Given the description of an element on the screen output the (x, y) to click on. 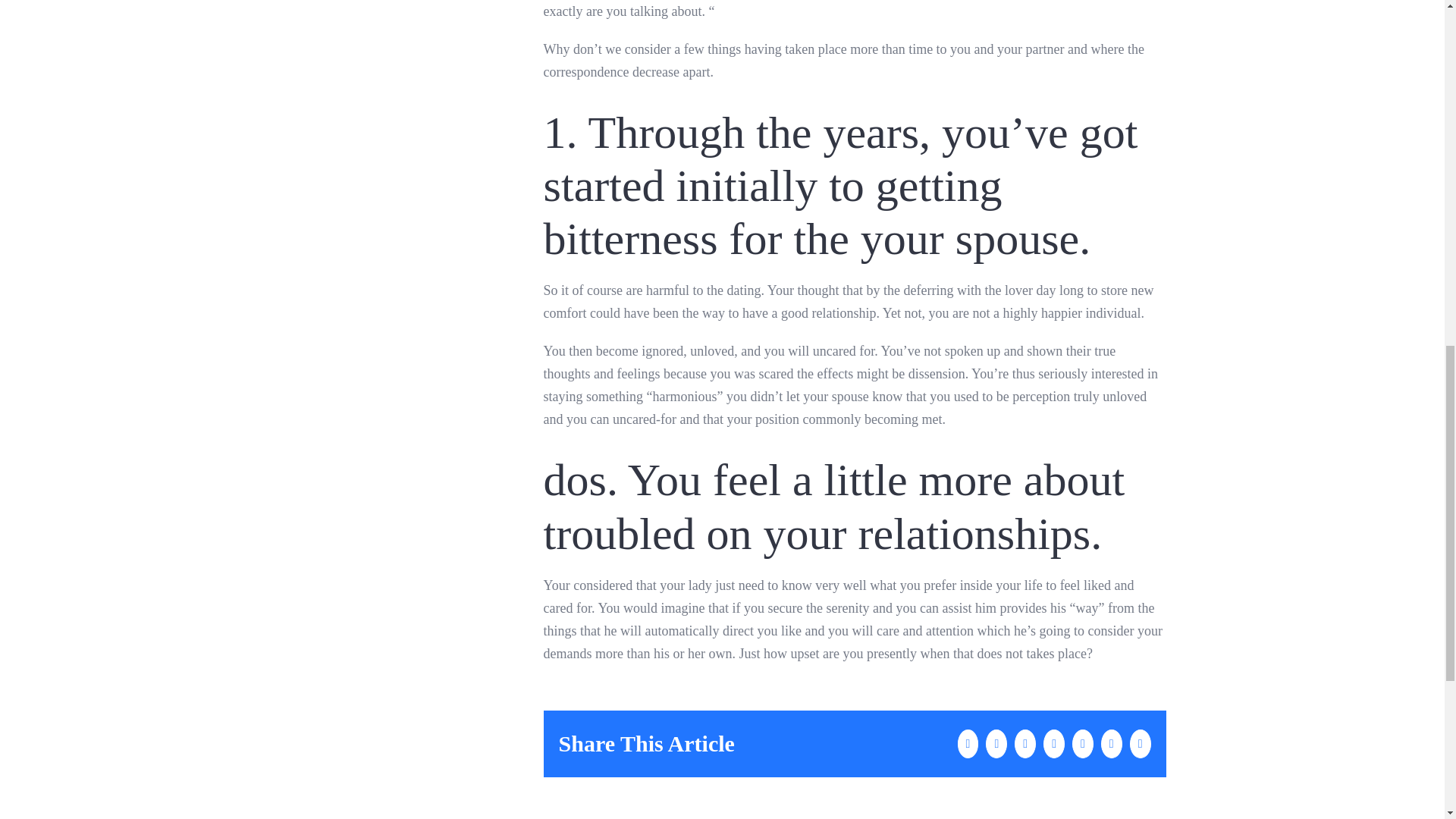
Pinterest (1082, 743)
Facebook (968, 743)
Email (1140, 743)
LinkedIn (1024, 743)
Tumblr (1053, 743)
Vk (1111, 743)
Twitter (996, 743)
